Given the description of an element on the screen output the (x, y) to click on. 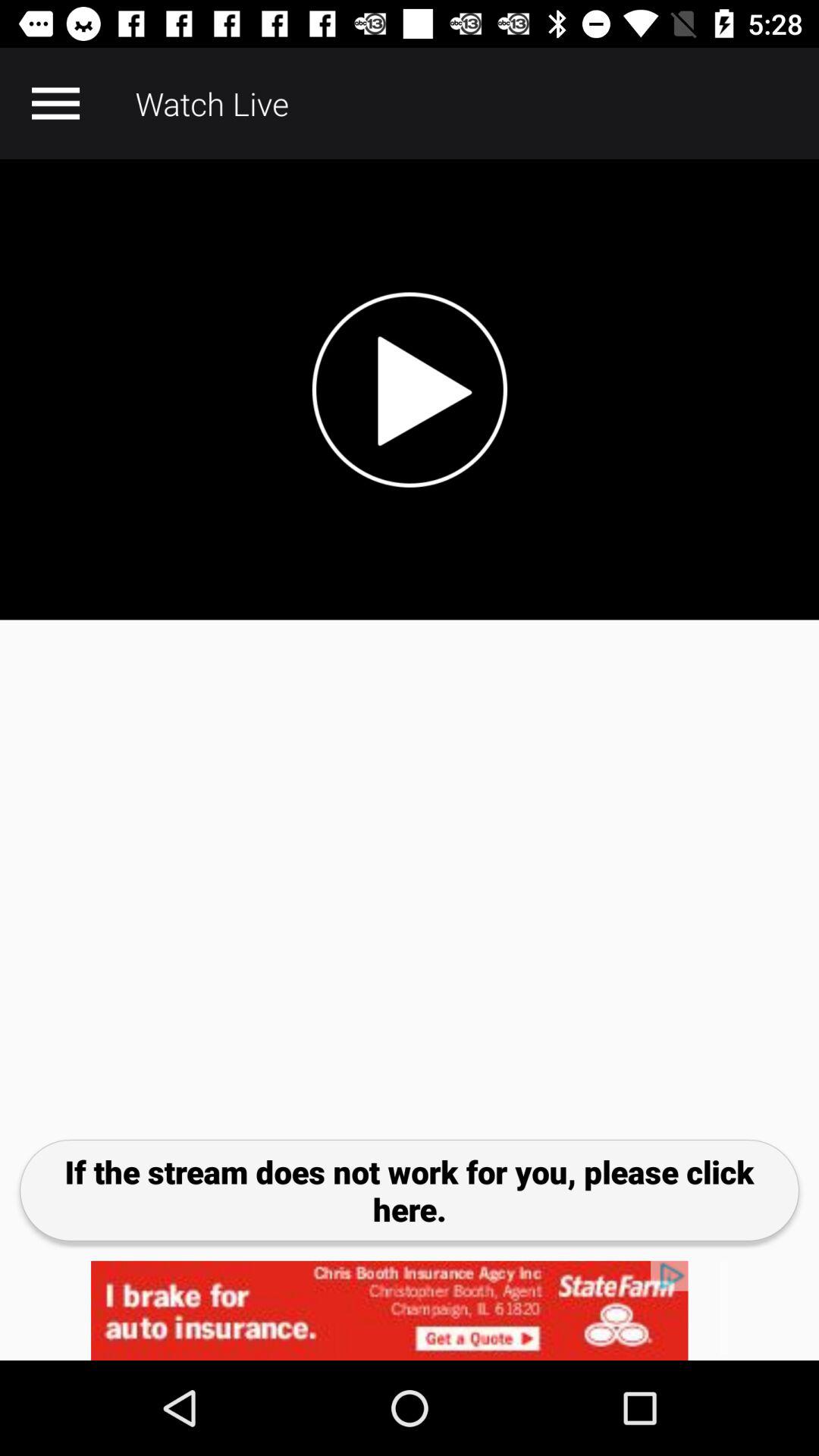
advertisement click (409, 1310)
